Given the description of an element on the screen output the (x, y) to click on. 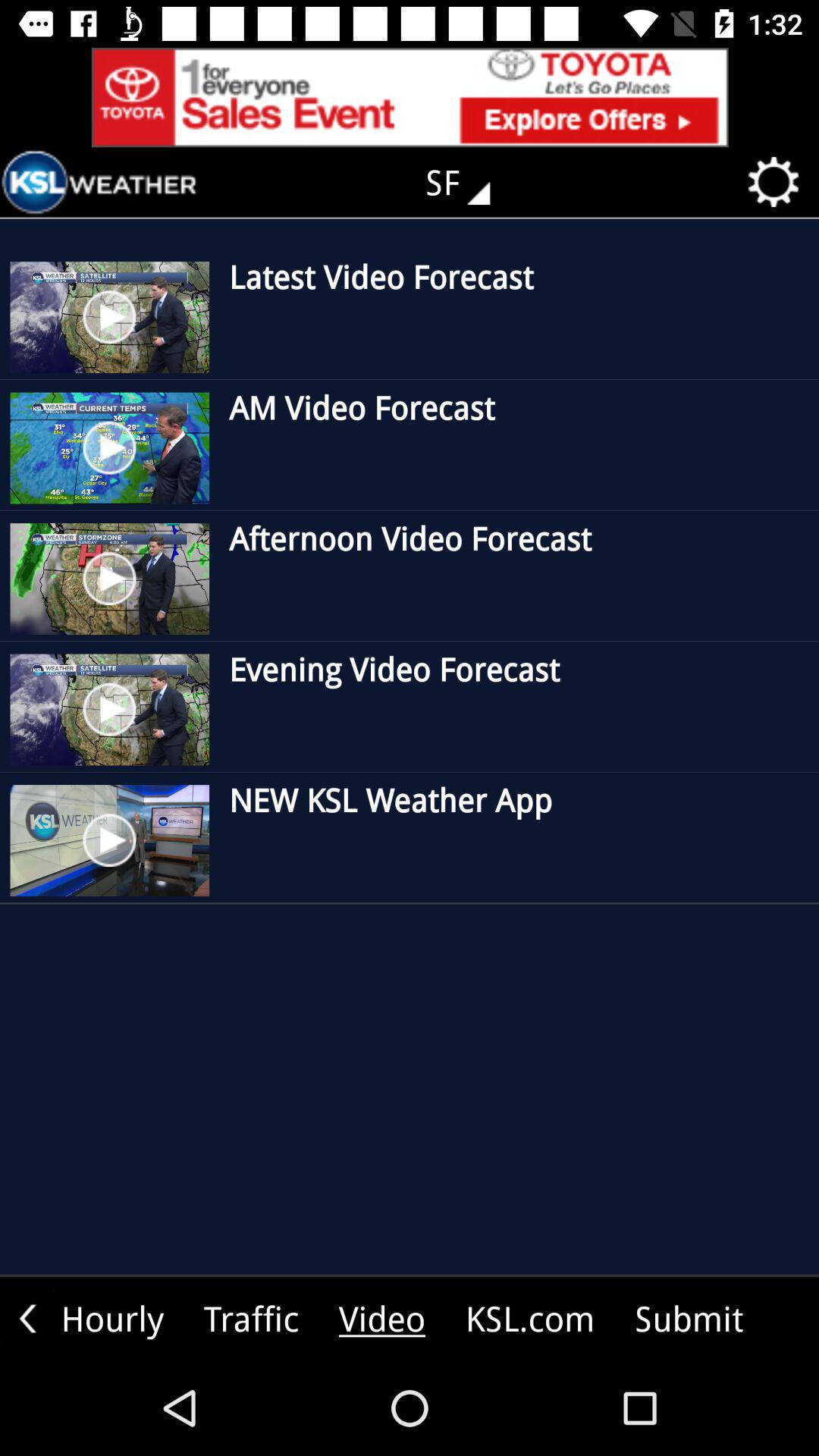
go to init screen (99, 182)
